Given the description of an element on the screen output the (x, y) to click on. 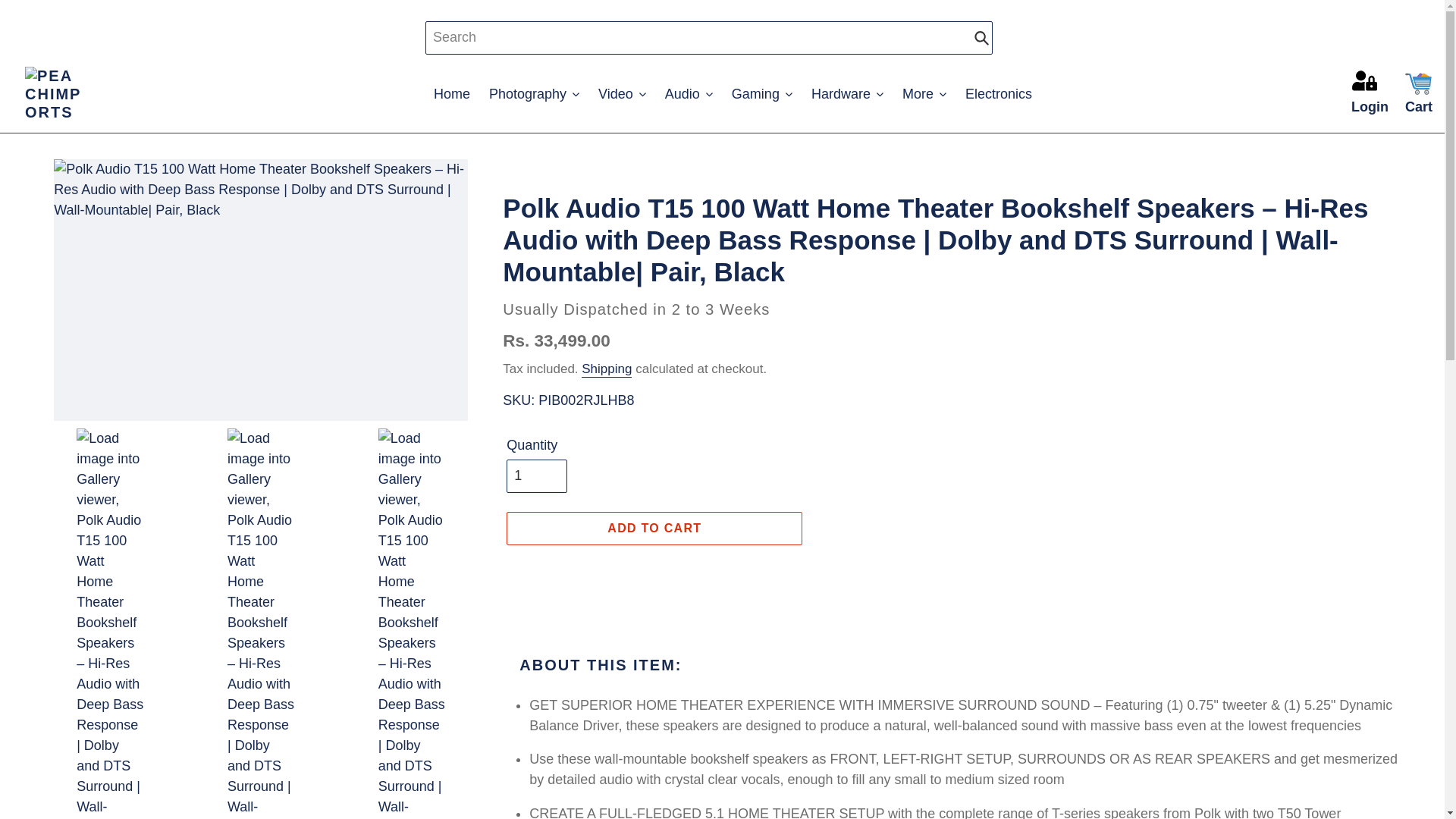
Close search (1009, 37)
1 (536, 476)
Submit (981, 37)
Photography (533, 94)
Gaming (761, 94)
Home (451, 94)
Hardware (847, 94)
More (924, 94)
Audio (689, 94)
